Given the description of an element on the screen output the (x, y) to click on. 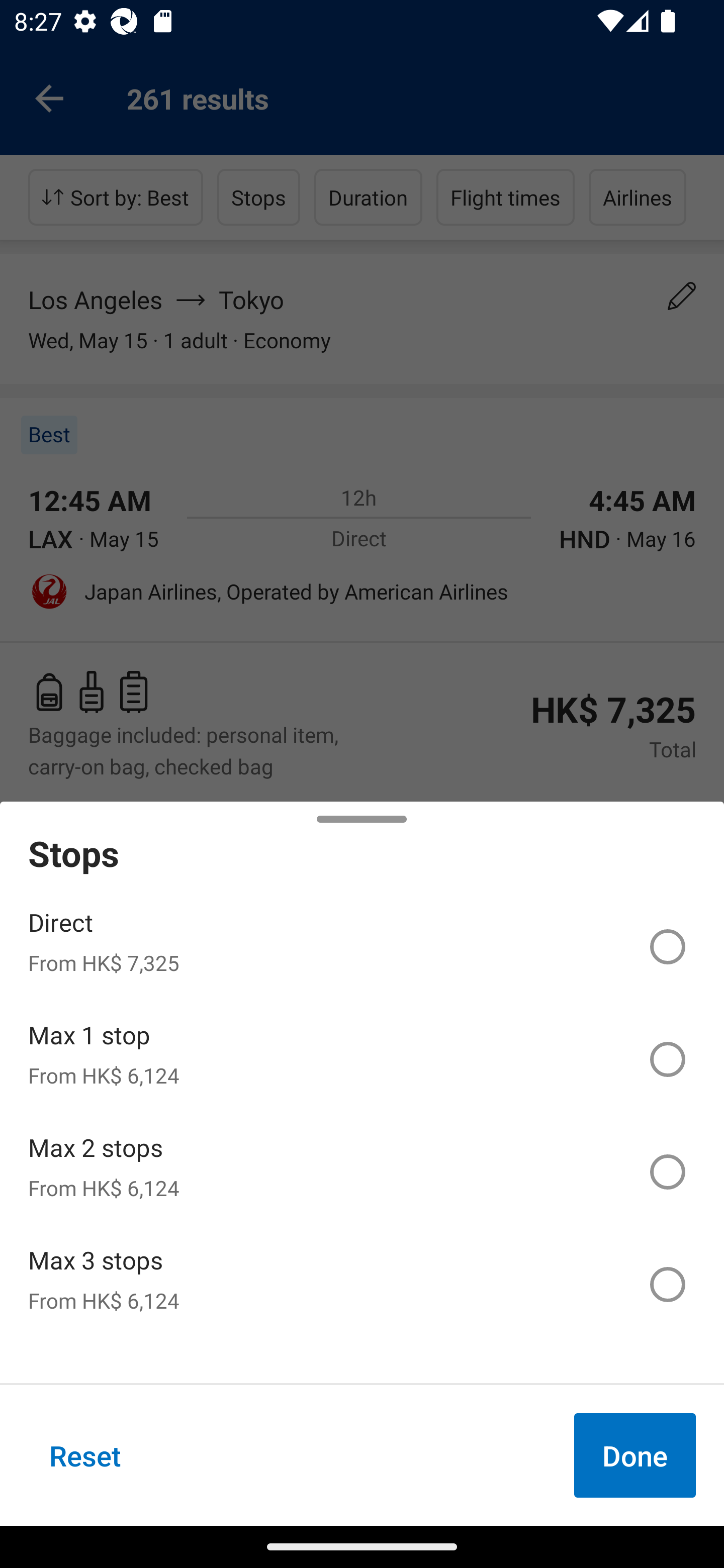
Direct From HK$ 7,325 (362, 946)
Max 1 stop From HK$ 6,124 (362, 1059)
Max 2 stops From HK$ 6,124 (362, 1171)
Max 3 stops From HK$ 6,124 (362, 1283)
Reset (85, 1454)
Done (634, 1454)
